Given the description of an element on the screen output the (x, y) to click on. 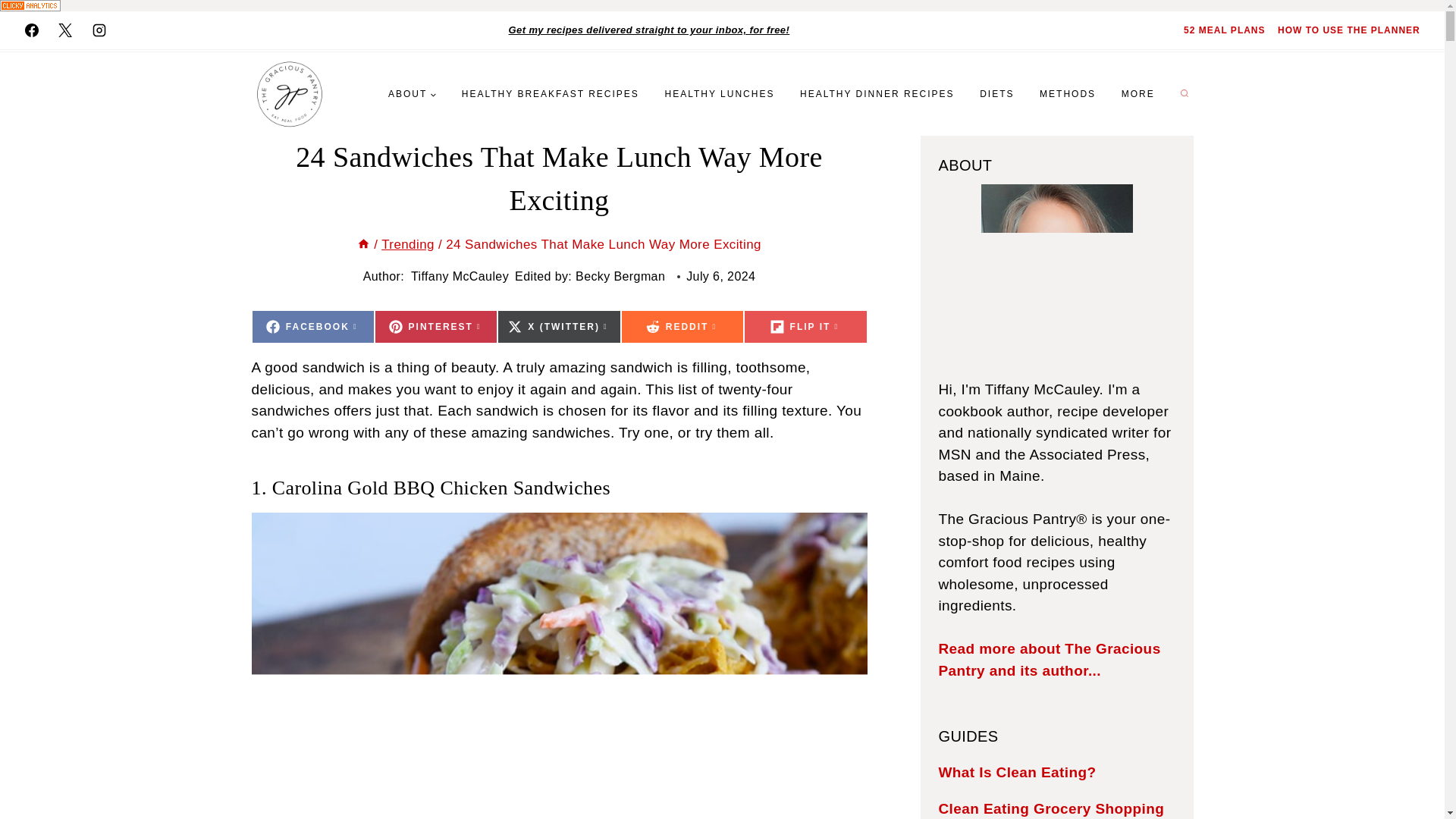
HOW TO USE THE PLANNER (1348, 30)
HEALTHY BREAKFAST RECIPES (550, 93)
52 MEAL PLANS (1224, 30)
 External link. Opens in a new tab. (31, 30)
 External link. Opens in a new tab. (435, 326)
 External link. Opens in a new tab. (805, 326)
Home (362, 244)
HEALTHY LUNCHES (719, 93)
DIETS (996, 93)
MORE (1137, 93)
